Given the description of an element on the screen output the (x, y) to click on. 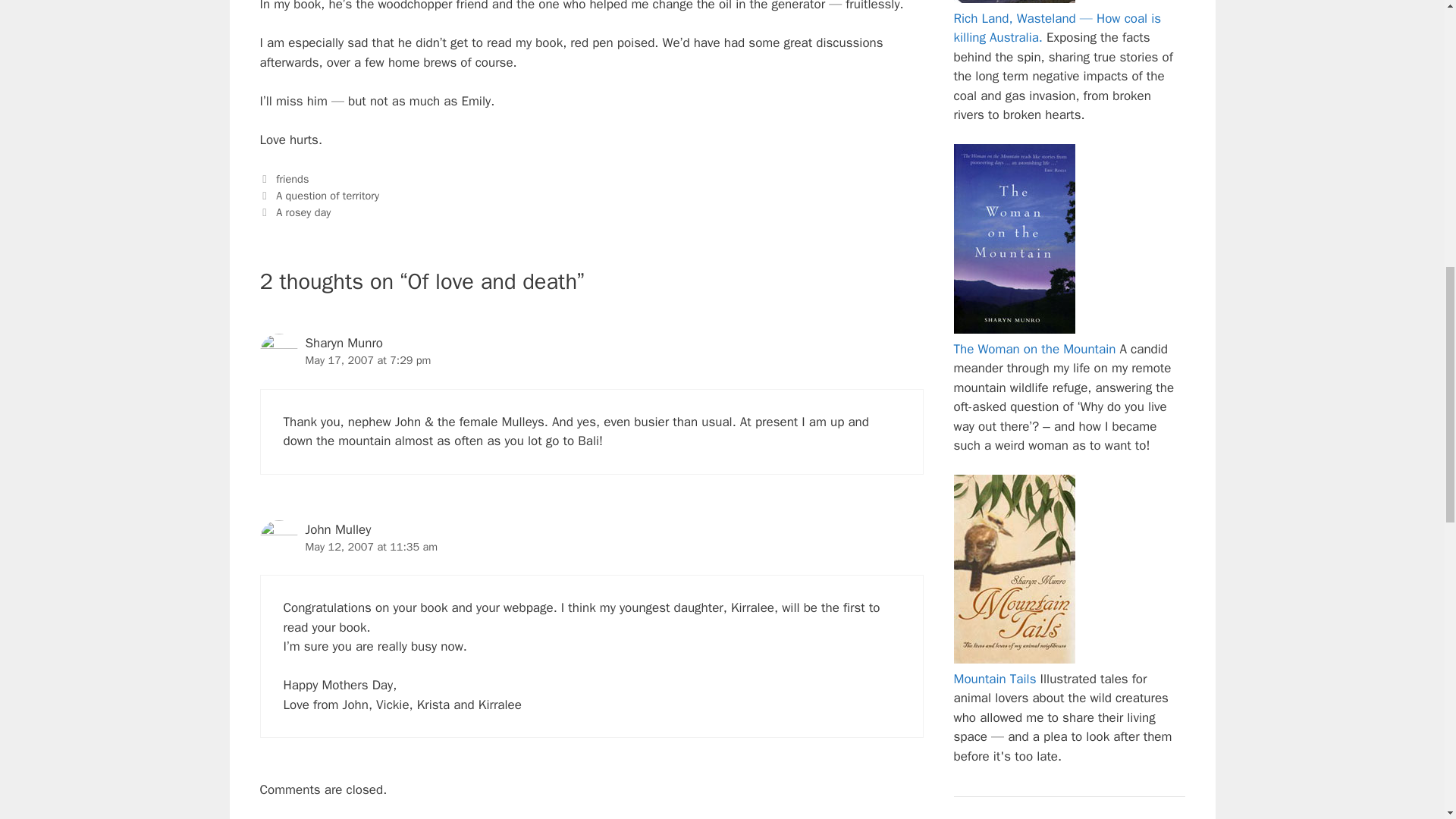
May 17, 2007 at 7:29 pm (367, 359)
A rosey day (303, 212)
Mountain Tails (994, 678)
friends (292, 178)
A question of territory (327, 195)
May 12, 2007 at 11:35 am (371, 546)
The Woman on the Mountain (1034, 349)
